Given the description of an element on the screen output the (x, y) to click on. 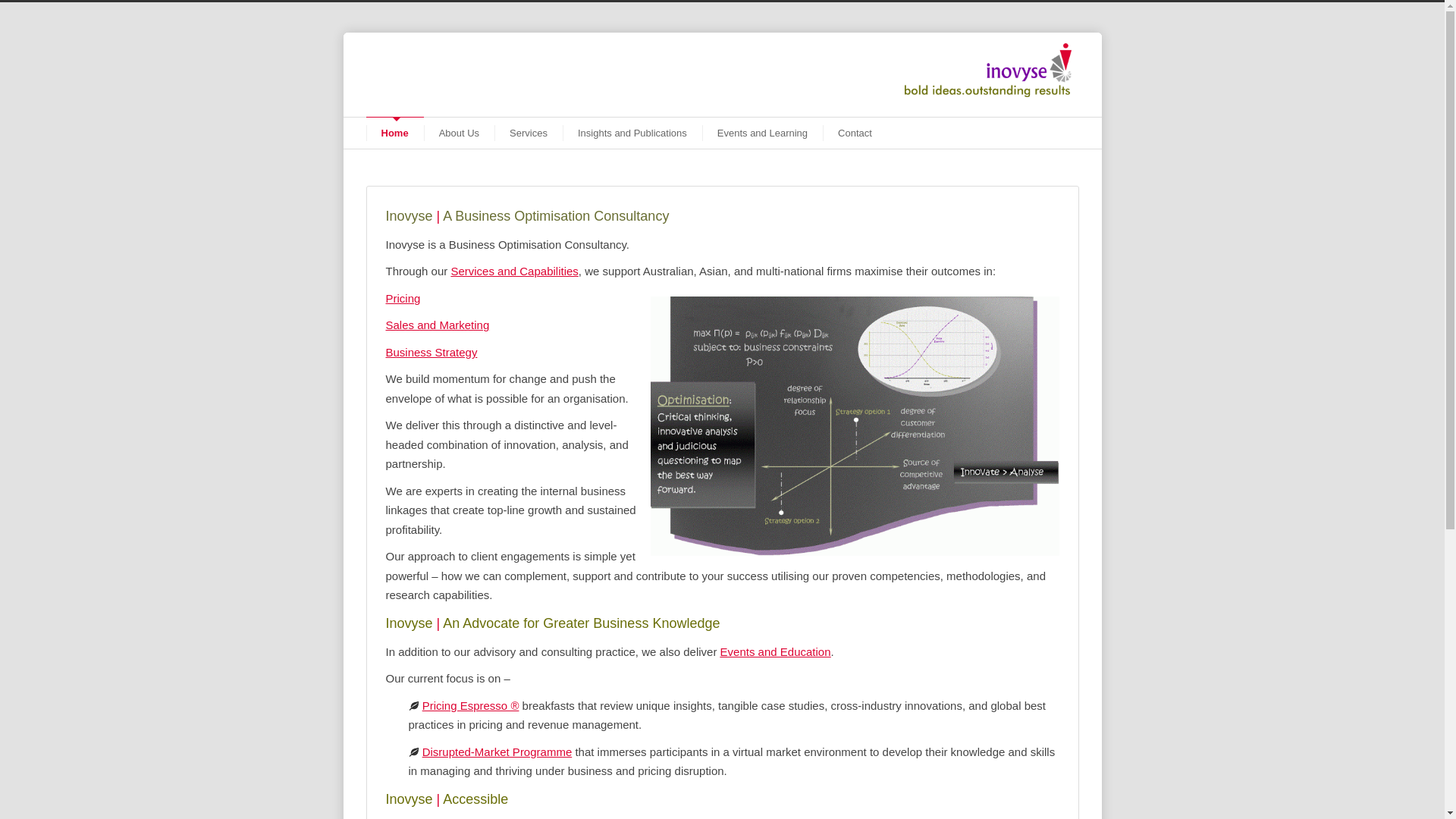
Events and Education Element type: text (775, 651)
Sales and Marketing Element type: text (437, 324)
Home Element type: text (394, 132)
Services Element type: text (528, 132)
About Us Element type: text (458, 132)
Business Strategy Element type: text (430, 351)
Services and Capabilities Element type: text (513, 270)
Events and Learning Element type: text (762, 132)
Insights and Publications Element type: text (632, 132)
Contact Element type: text (854, 132)
Pricing Element type: text (402, 297)
Disrupted-Market Programme Element type: text (497, 751)
